Given the description of an element on the screen output the (x, y) to click on. 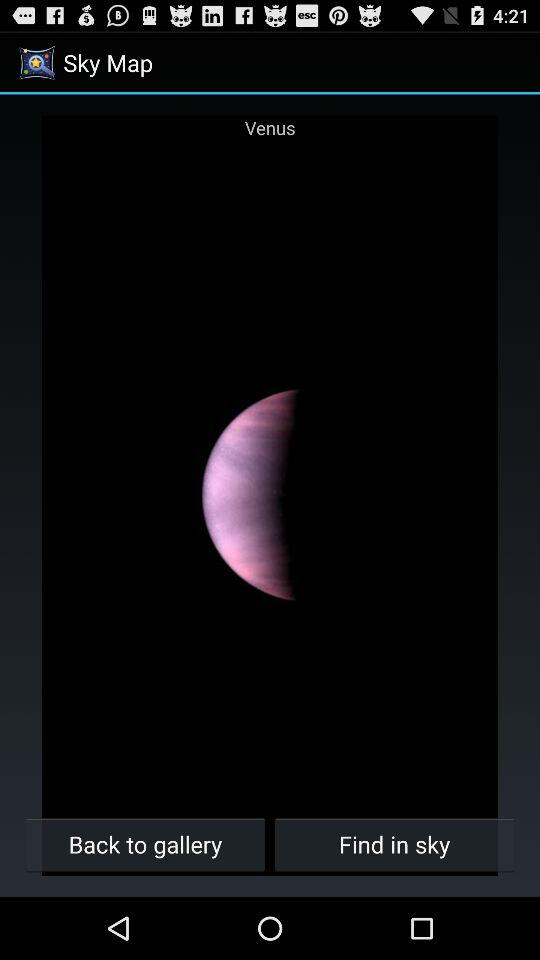
turn off icon to the left of the find in sky item (145, 844)
